Given the description of an element on the screen output the (x, y) to click on. 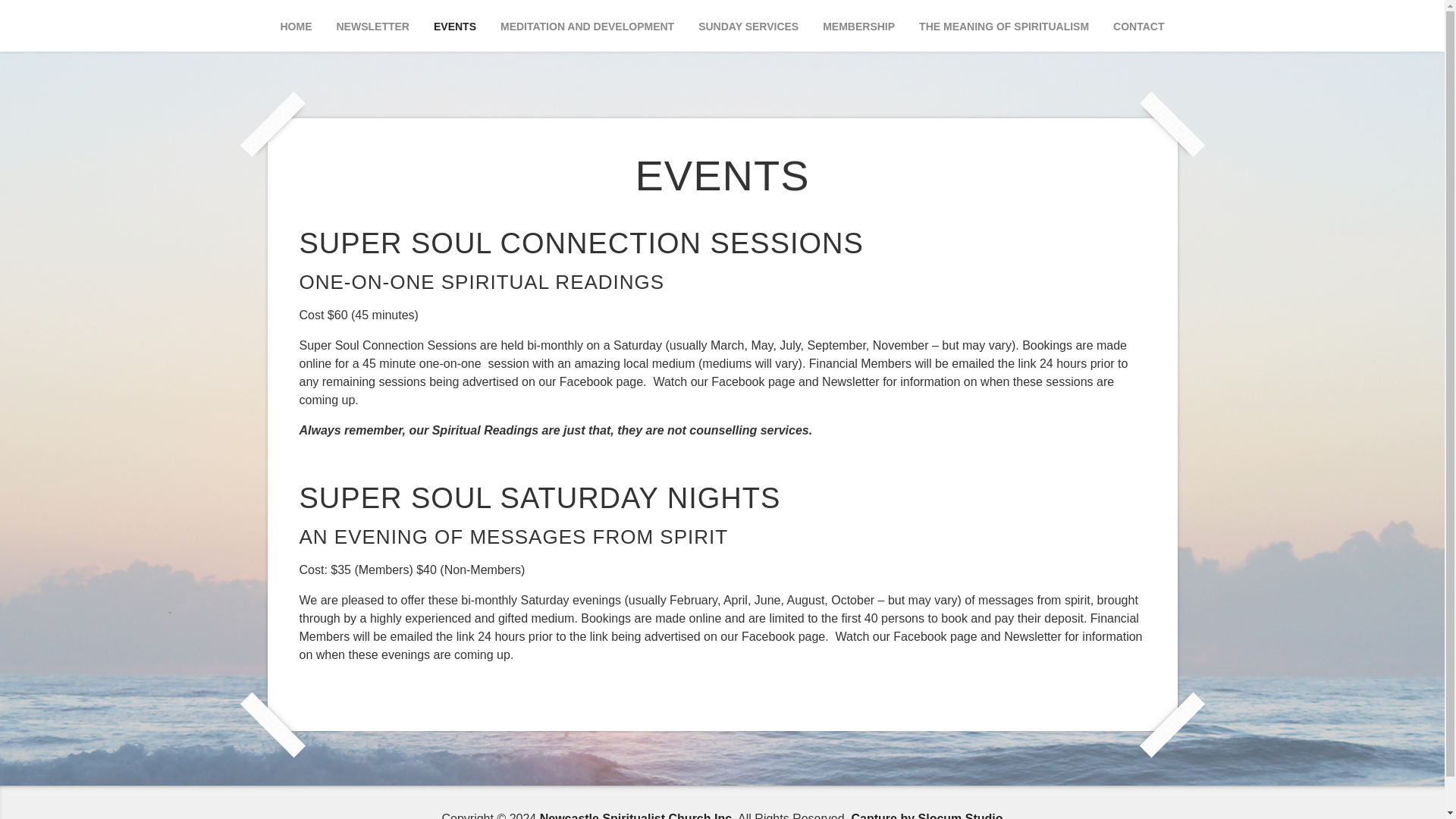
SUNDAY SERVICES (747, 30)
CONTACT (1138, 30)
EVENTS (454, 30)
MEDITATION AND DEVELOPMENT (587, 30)
Newcastle Spiritualist Church Inc (636, 815)
NEWSLETTER (372, 30)
THE MEANING OF SPIRITUALISM (1003, 30)
Capture by Slocum Studio (926, 815)
HOME (297, 30)
MEMBERSHIP (858, 30)
